Given the description of an element on the screen output the (x, y) to click on. 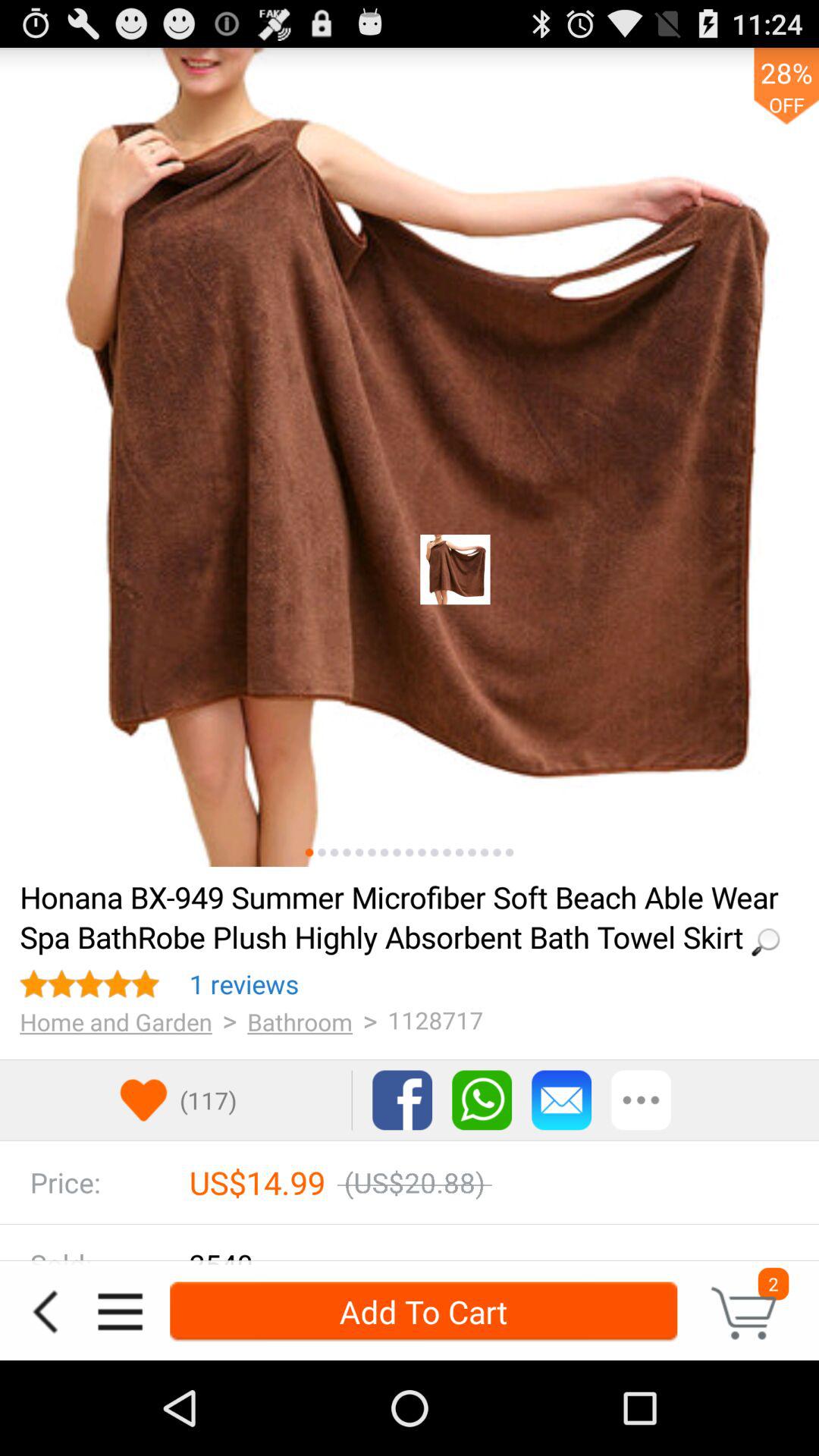
tap 1 reviews item (244, 983)
